Given the description of an element on the screen output the (x, y) to click on. 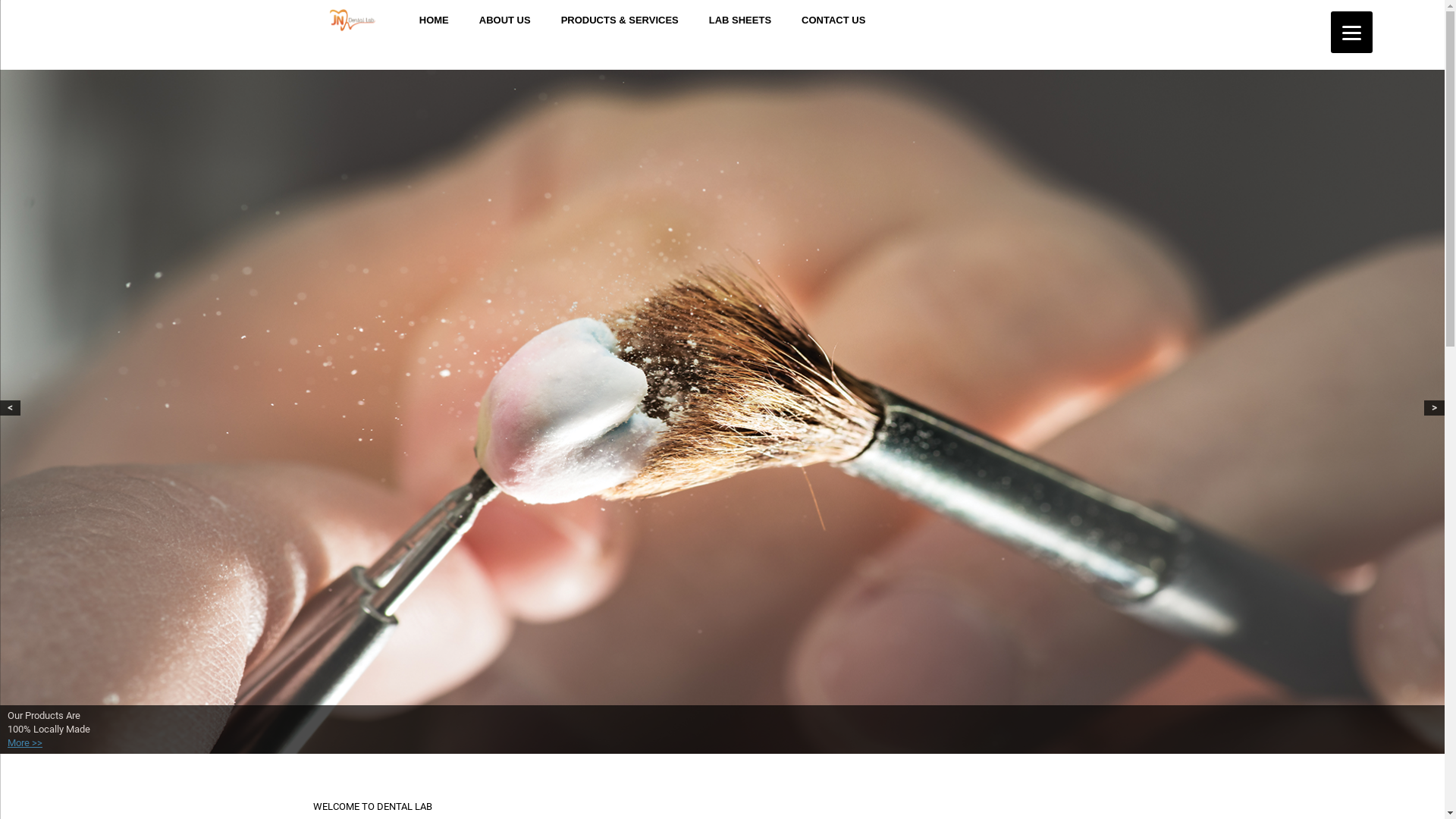
> Element type: text (1434, 407)
LAB SHEETS Element type: text (739, 20)
< Element type: text (10, 407)
More >> Element type: text (24, 742)
JN Dental Lab Element type: hover (352, 20)
ABOUT US Element type: text (505, 20)
HOME Element type: text (434, 20)
Dental Lab Melbourne Element type: hover (722, 411)
Send Email Element type: text (721, 61)
CONTACT US Element type: text (833, 20)
PRODUCTS & SERVICES Element type: text (619, 20)
